Given the description of an element on the screen output the (x, y) to click on. 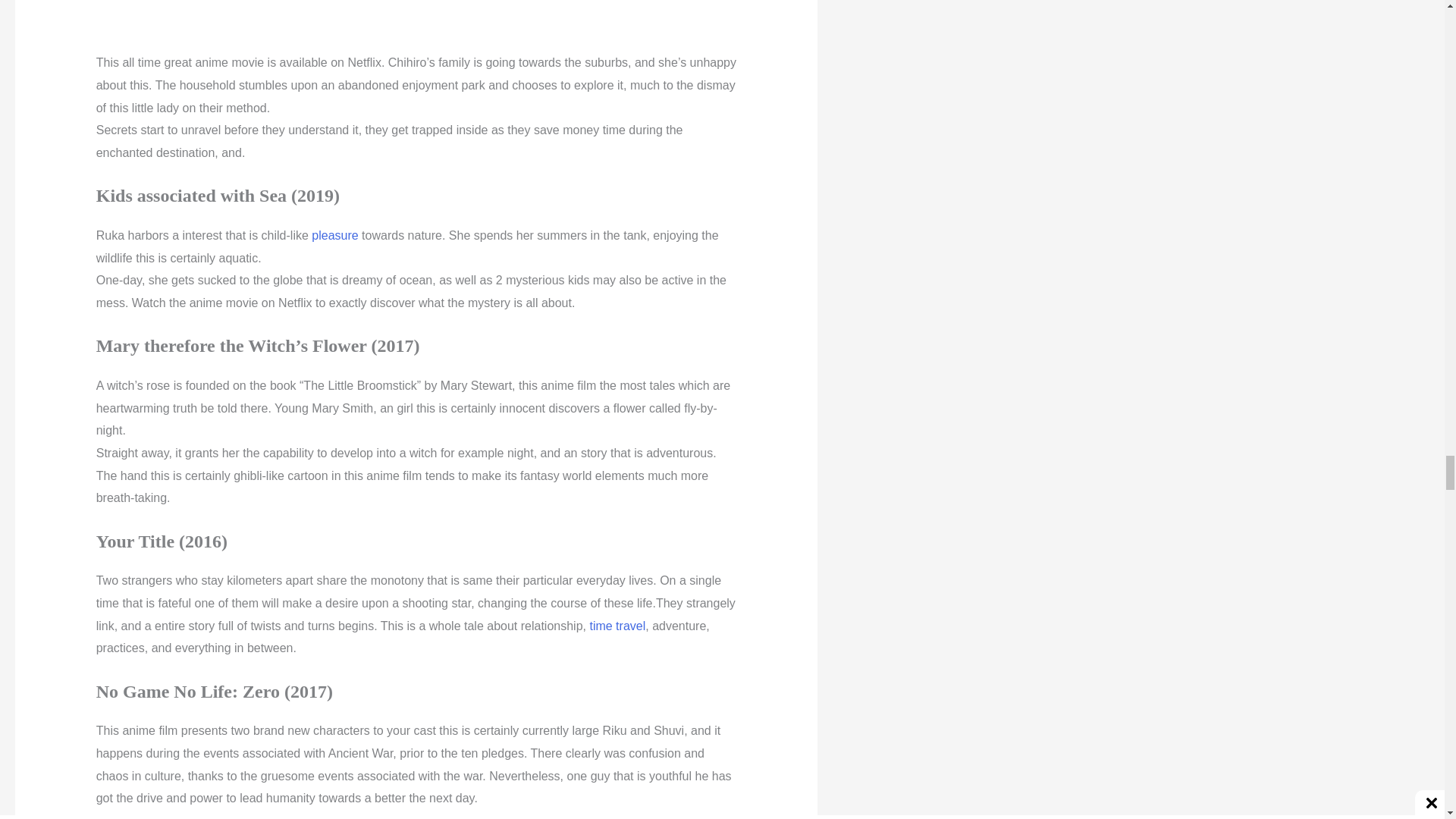
time travel (617, 625)
